Given the description of an element on the screen output the (x, y) to click on. 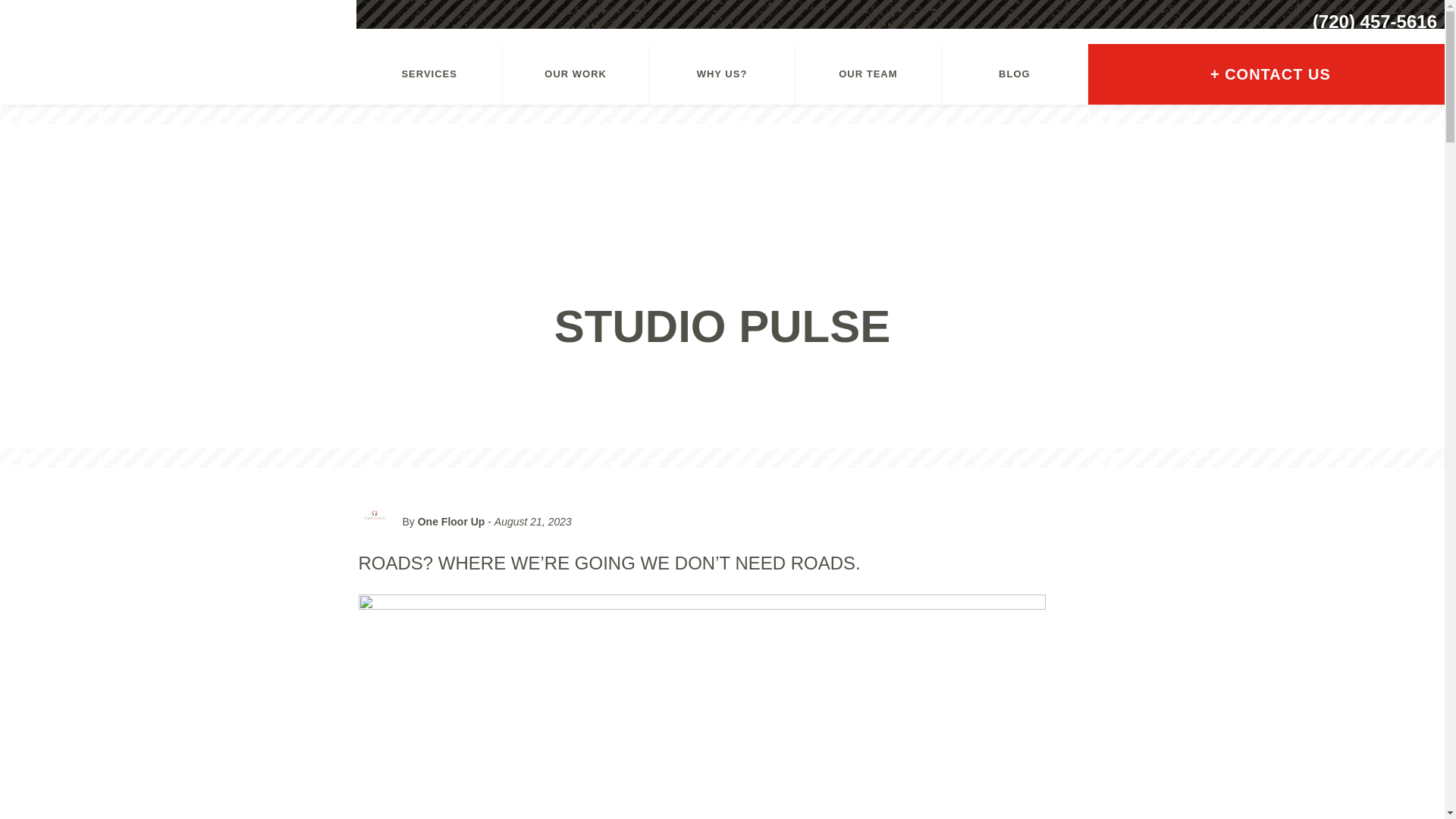
WHY US? (721, 74)
OUR WORK (574, 74)
Posts by One Floor Up (450, 521)
BLOG (1014, 74)
OUR TEAM (867, 74)
One Floor Up (450, 521)
SERVICES (429, 74)
